Given the description of an element on the screen output the (x, y) to click on. 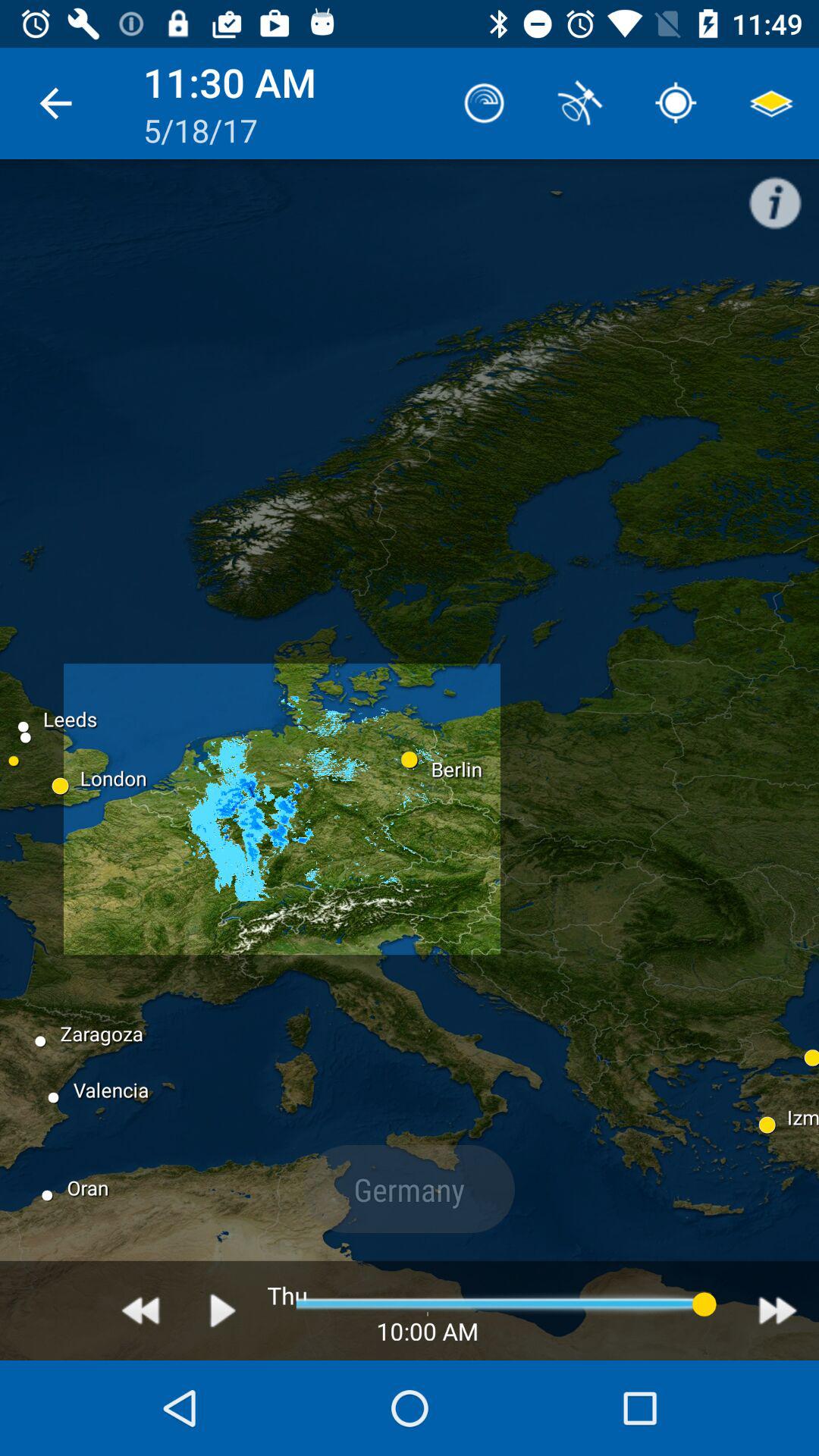
choose the icon at the bottom right corner (777, 1310)
